Given the description of an element on the screen output the (x, y) to click on. 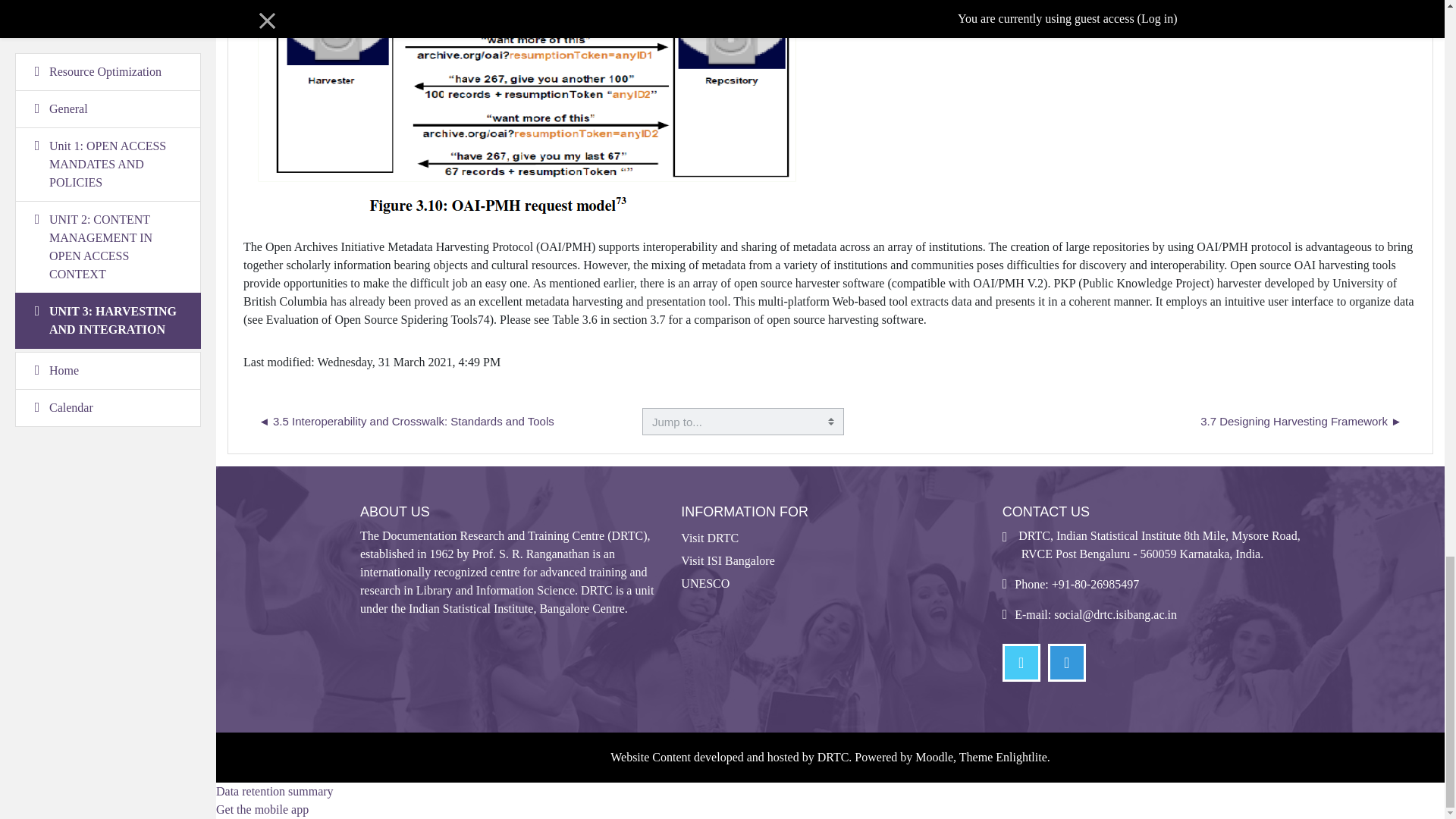
3.5 Interoperability and Crosswalk: Standards and Tools (406, 421)
